Given the description of an element on the screen output the (x, y) to click on. 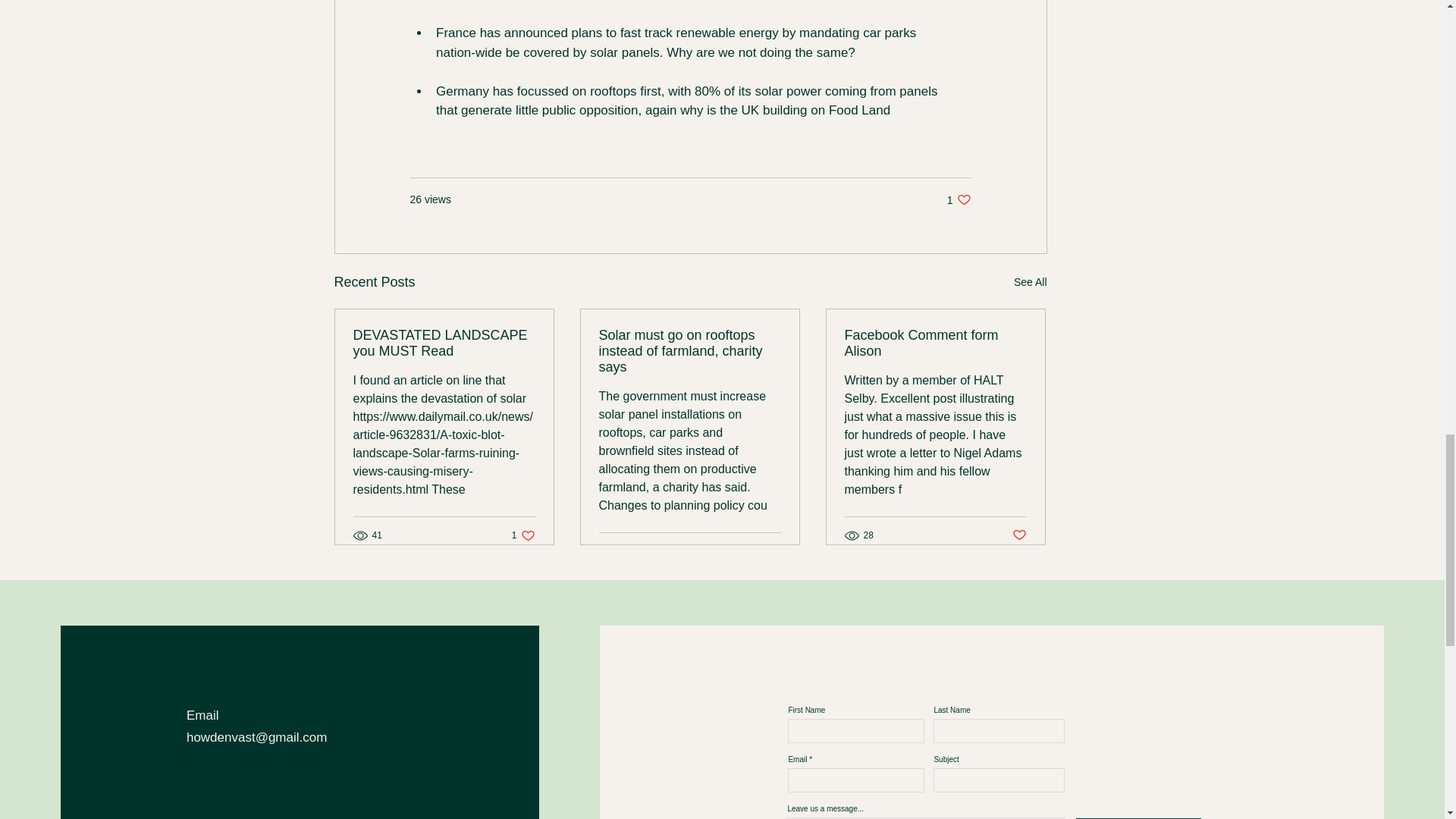
See All (1029, 282)
DEVASTATED LANDSCAPE you MUST Read (444, 343)
Facebook Comment form Alison (935, 343)
Post not marked as liked (1018, 535)
Solar must go on rooftops instead of farmland, charity says (523, 534)
1 like. Post not marked as liked (689, 351)
